Given the description of an element on the screen output the (x, y) to click on. 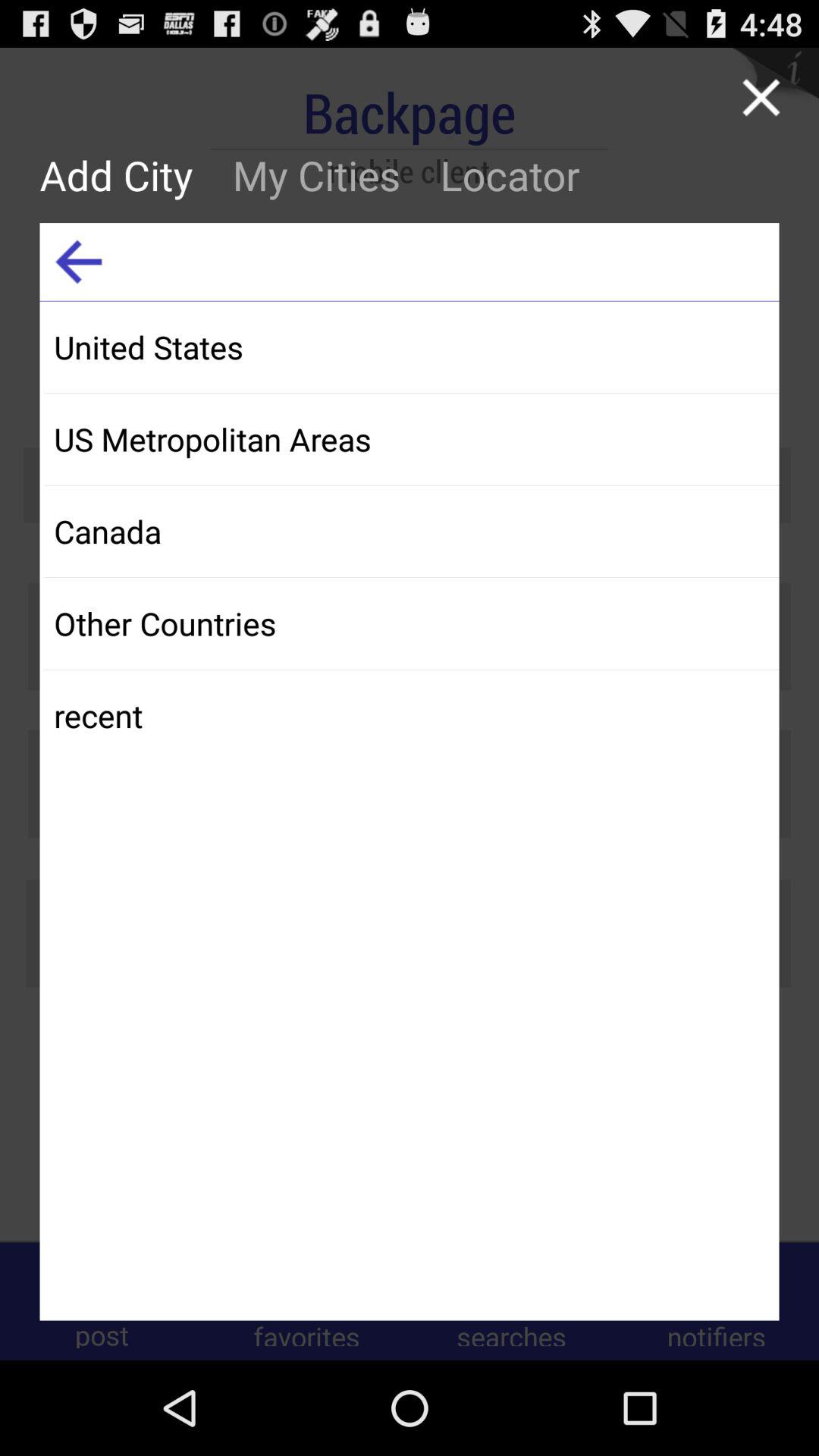
close this page (761, 97)
